Given the description of an element on the screen output the (x, y) to click on. 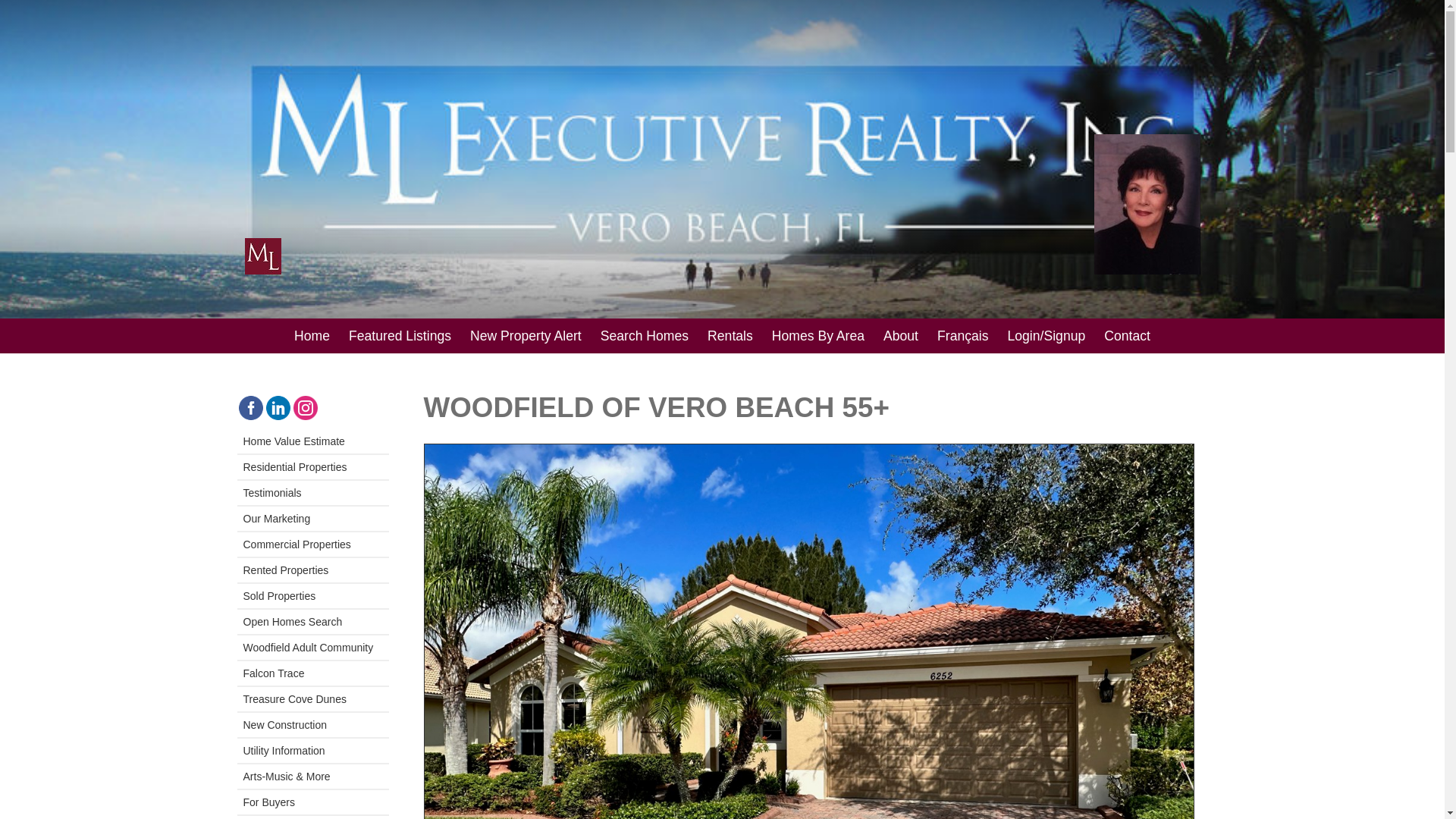
Testimonials (311, 493)
Home Value Estimate (311, 442)
Homes By Area (817, 335)
Open Homes Search (311, 622)
New Property Alert (525, 335)
Our Marketing (311, 519)
For Buyers (311, 802)
Woodfield Adult Community (311, 647)
Utility Information (311, 751)
Rentals (729, 335)
